Given the description of an element on the screen output the (x, y) to click on. 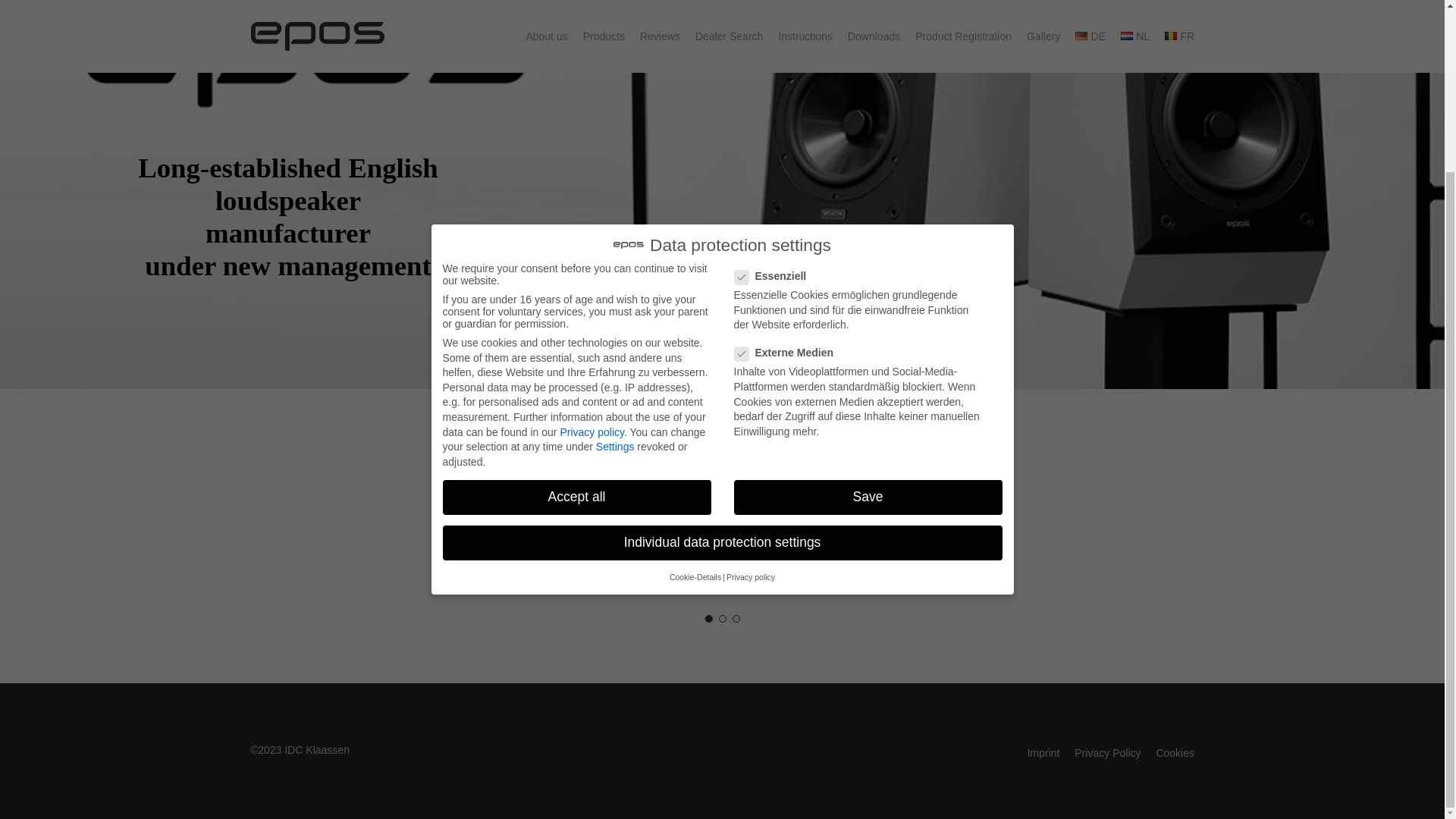
Privacy Policy (1107, 752)
Cookies (1174, 752)
Imprint (1043, 752)
